Given the description of an element on the screen output the (x, y) to click on. 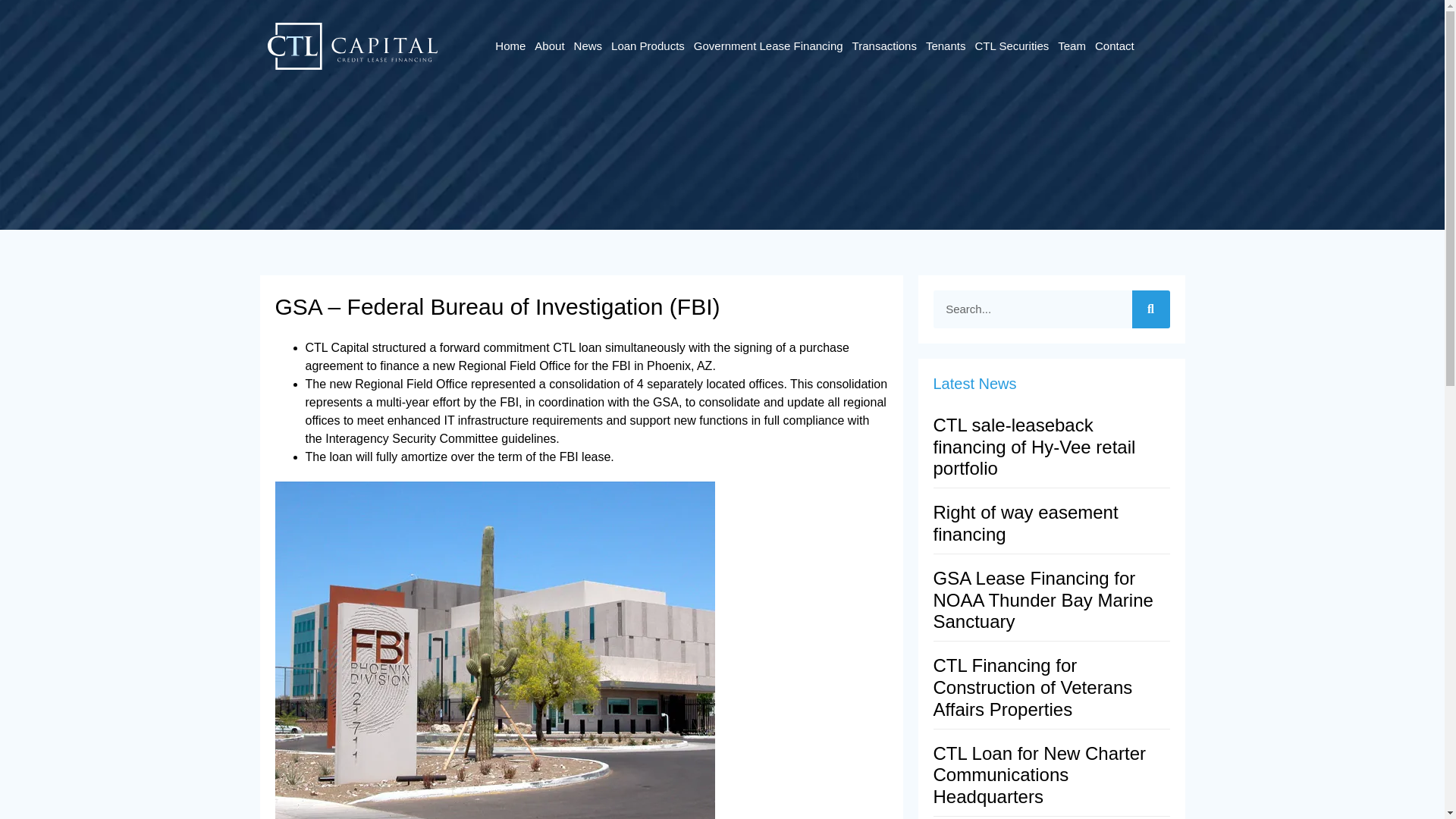
CTL Loan for New Charter Communications Headquarters (1039, 774)
CTL sale-leaseback financing of Hy-Vee retail portfolio (1034, 446)
Transactions (884, 45)
Team (1071, 45)
Government Lease Financing (767, 45)
CTL Securities (1010, 45)
Right of way easement financing (1025, 523)
News (588, 45)
Home (509, 45)
